Given the description of an element on the screen output the (x, y) to click on. 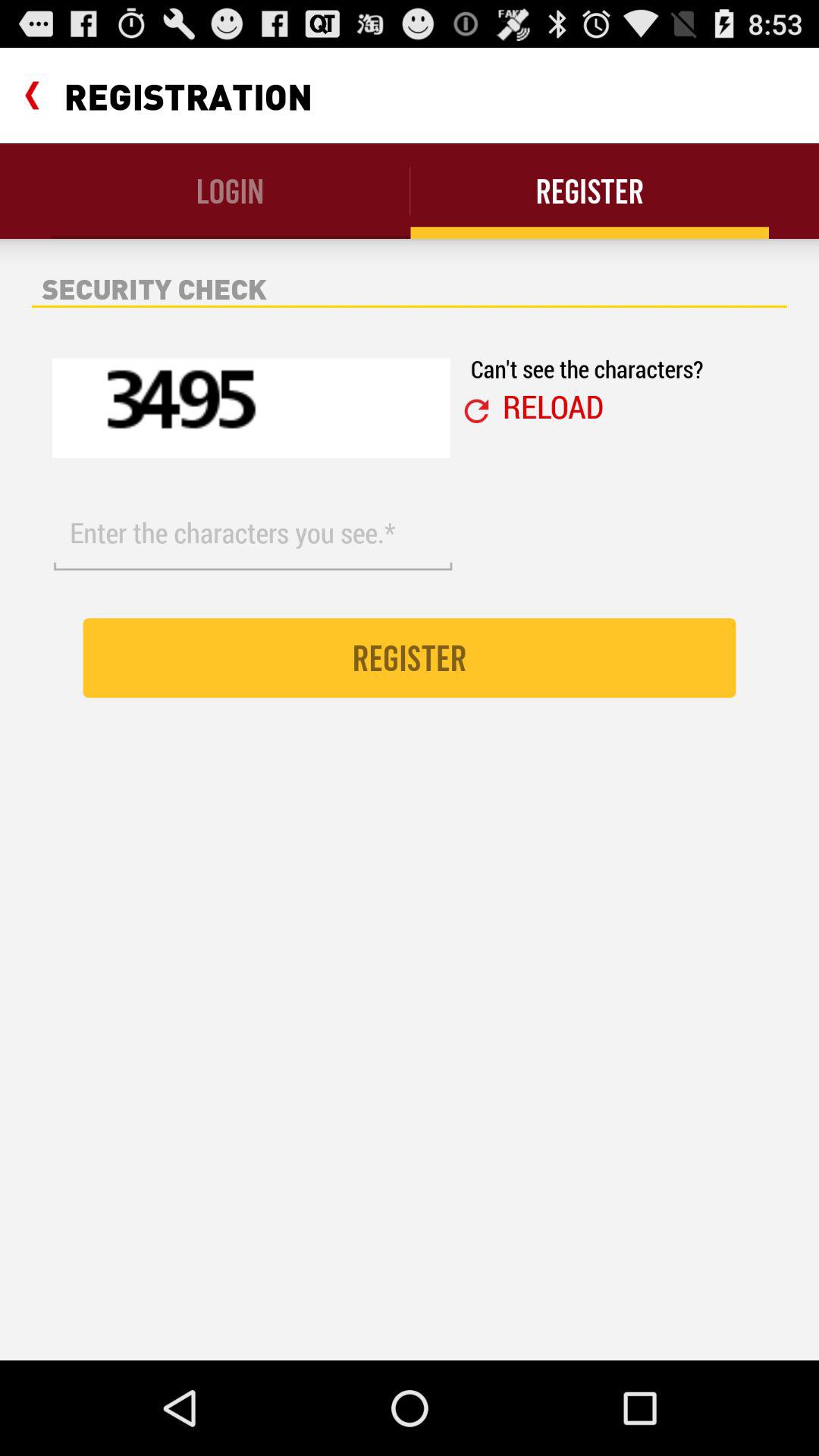
swipe until reload icon (553, 406)
